Given the description of an element on the screen output the (x, y) to click on. 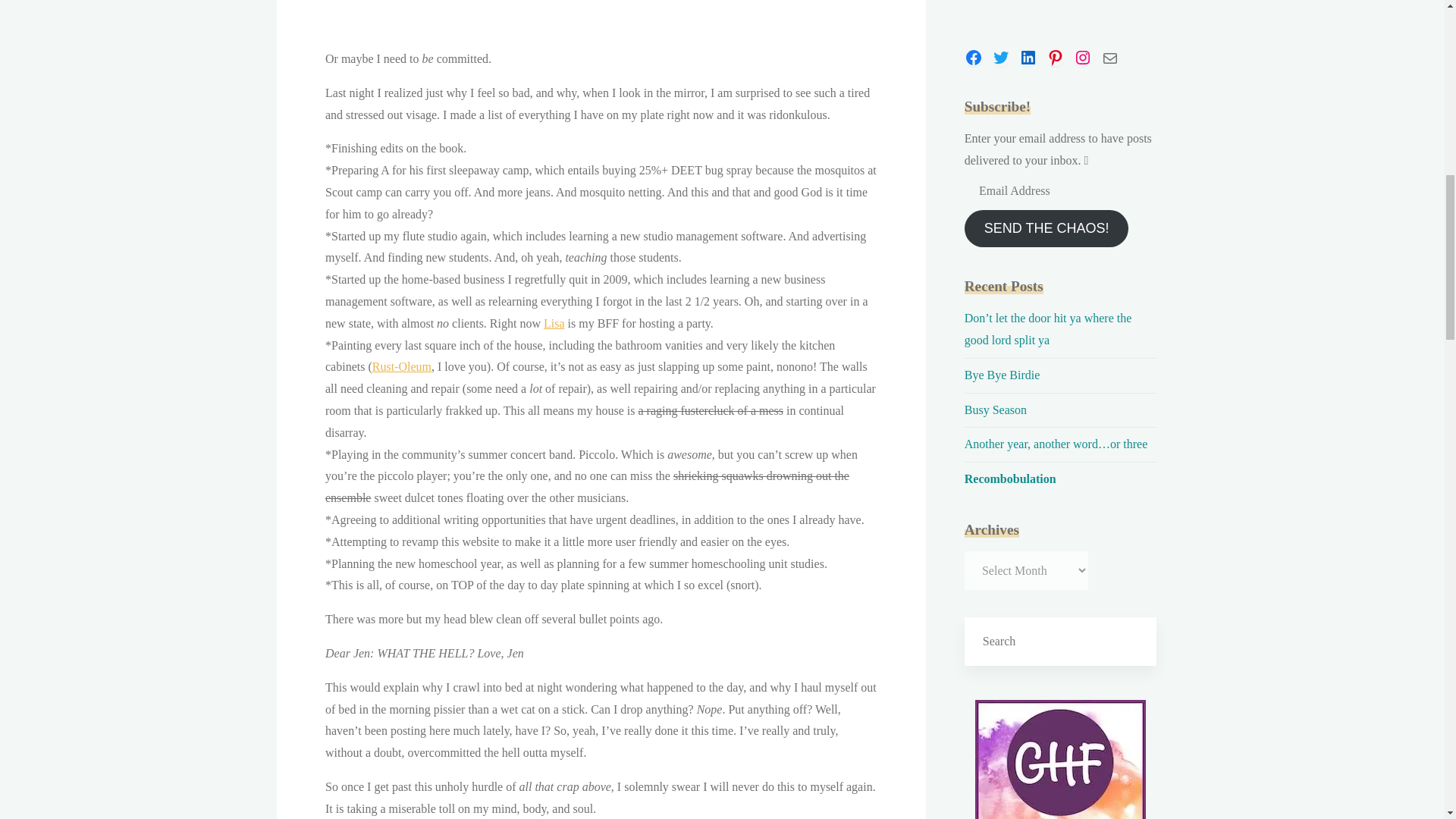
Rust-Oleum (400, 366)
Lisa (553, 323)
Looks like a million bucks (400, 366)
She's totally awesome (553, 323)
